Given the description of an element on the screen output the (x, y) to click on. 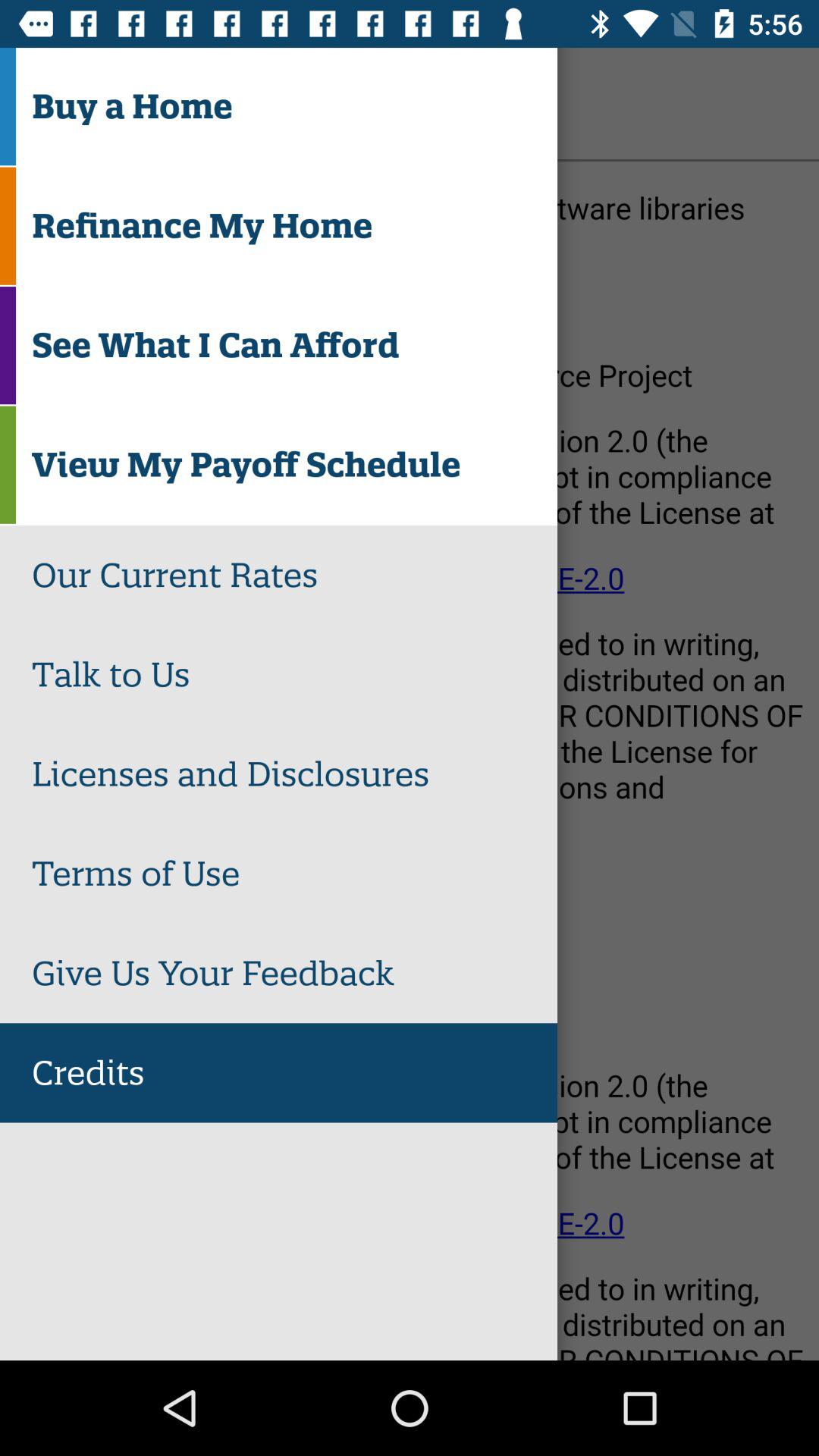
launch the icon below the licenses and disclosures icon (294, 873)
